Given the description of an element on the screen output the (x, y) to click on. 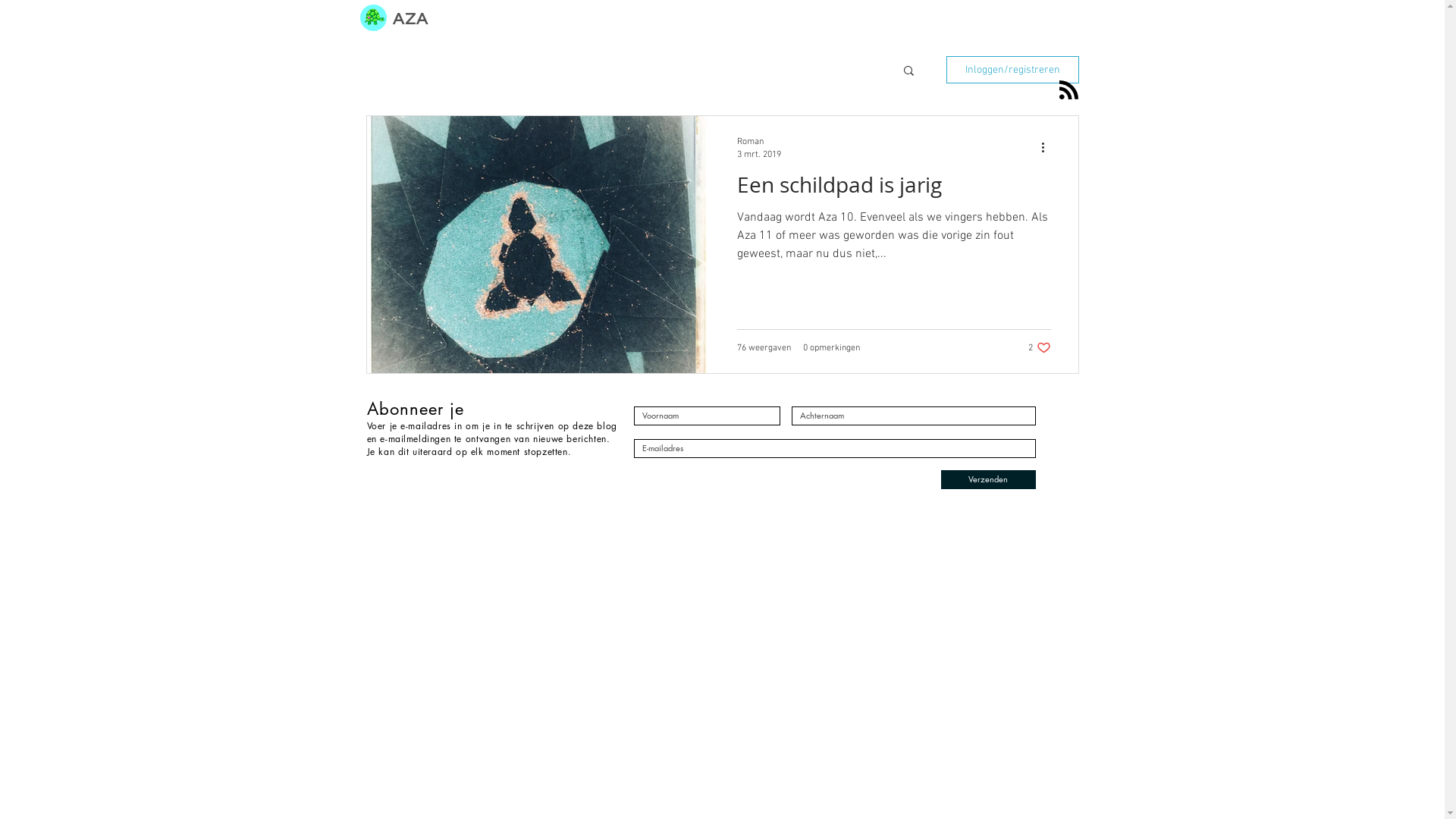
Inloggen/registreren Element type: text (1012, 69)
2 vind-ik-leuks. Post is niet als leuk gemarkeerd
2 Element type: text (1039, 347)
Verzenden Element type: text (987, 479)
Een schildpad is jarig Element type: text (894, 188)
0 opmerkingen Element type: text (830, 347)
Schildpad Nina logo.png Element type: hover (372, 17)
AZA Element type: text (410, 17)
